Given the description of an element on the screen output the (x, y) to click on. 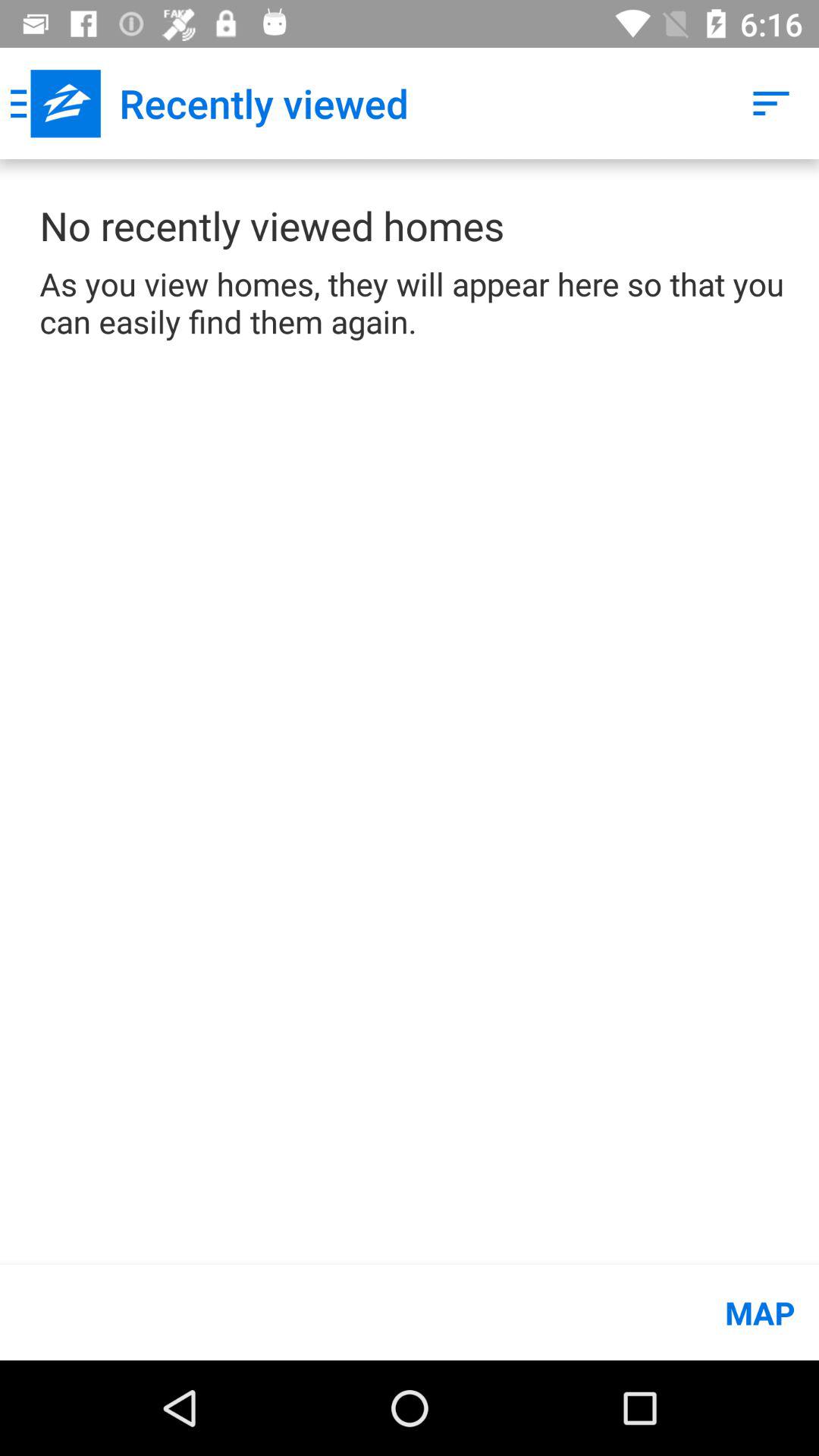
open the icon next to recently viewed (55, 103)
